Given the description of an element on the screen output the (x, y) to click on. 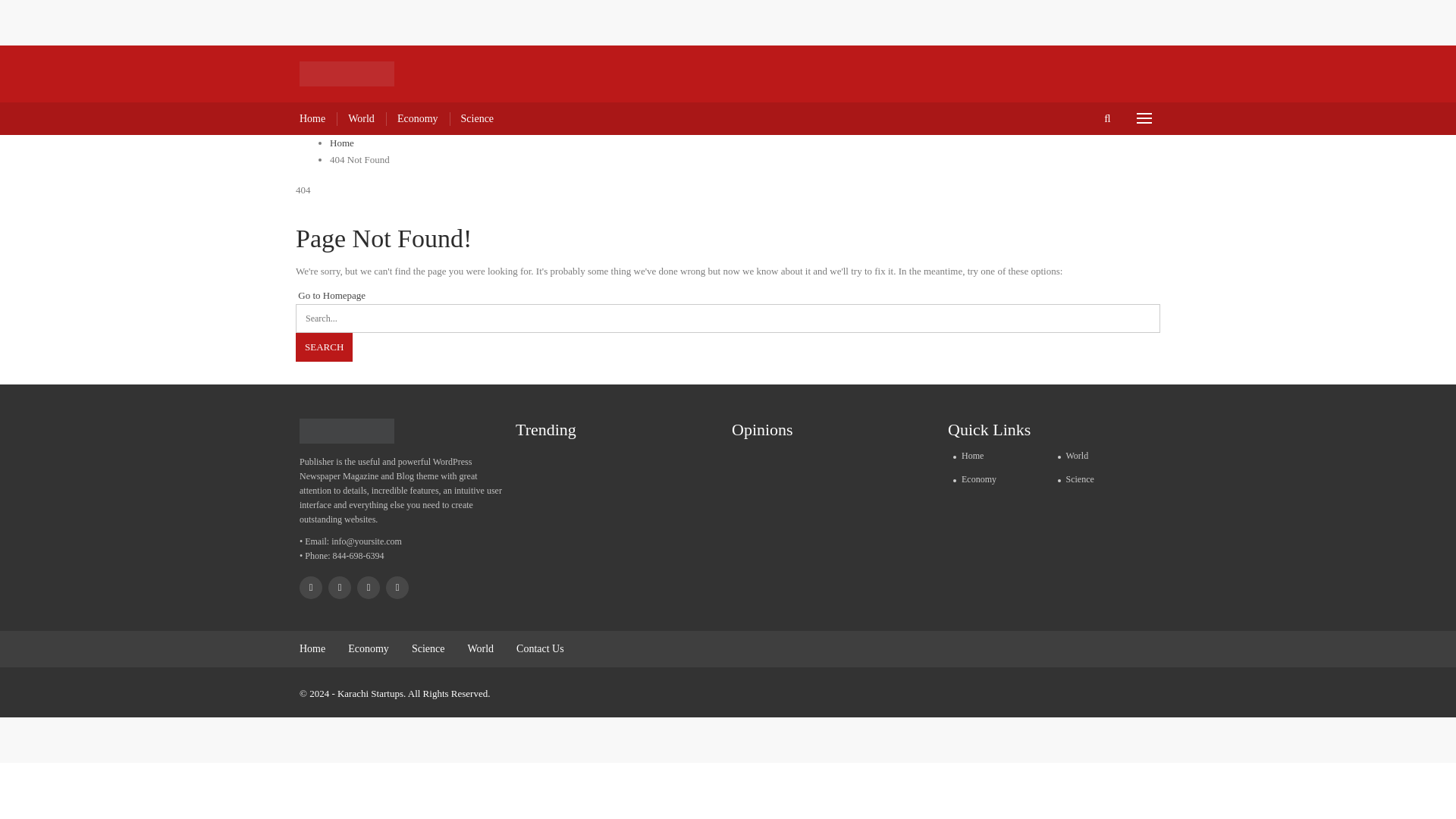
Science (1104, 479)
World (1104, 455)
Home (311, 118)
Contact Us (540, 648)
Economy (417, 118)
Science (478, 118)
Go to Homepage (330, 295)
World (480, 648)
World (360, 118)
Search (323, 346)
Search (323, 346)
Economy (367, 648)
Home (311, 648)
Home (999, 455)
Science (428, 648)
